Given the description of an element on the screen output the (x, y) to click on. 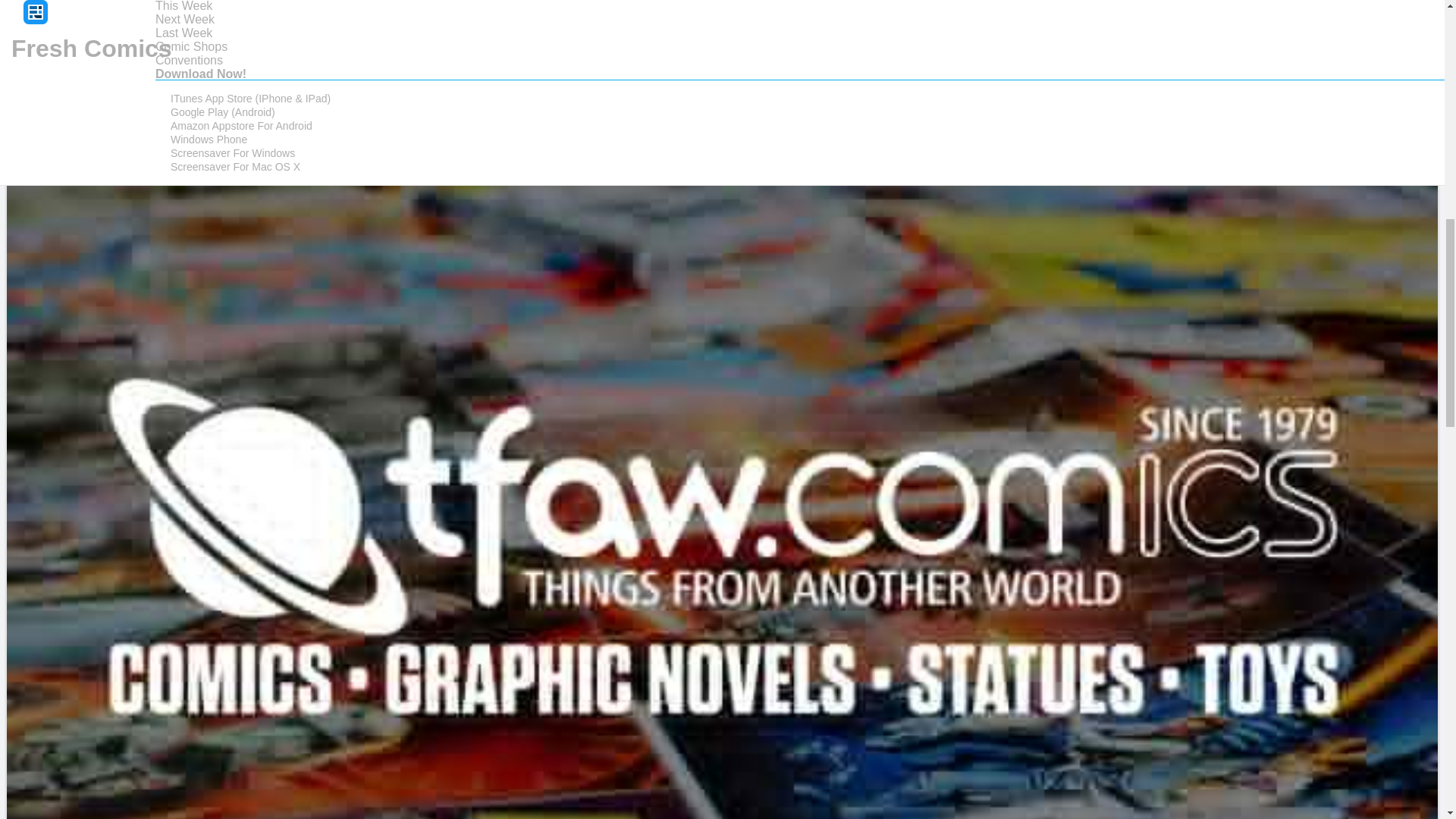
Tracy Yardley (61, 3)
